Given the description of an element on the screen output the (x, y) to click on. 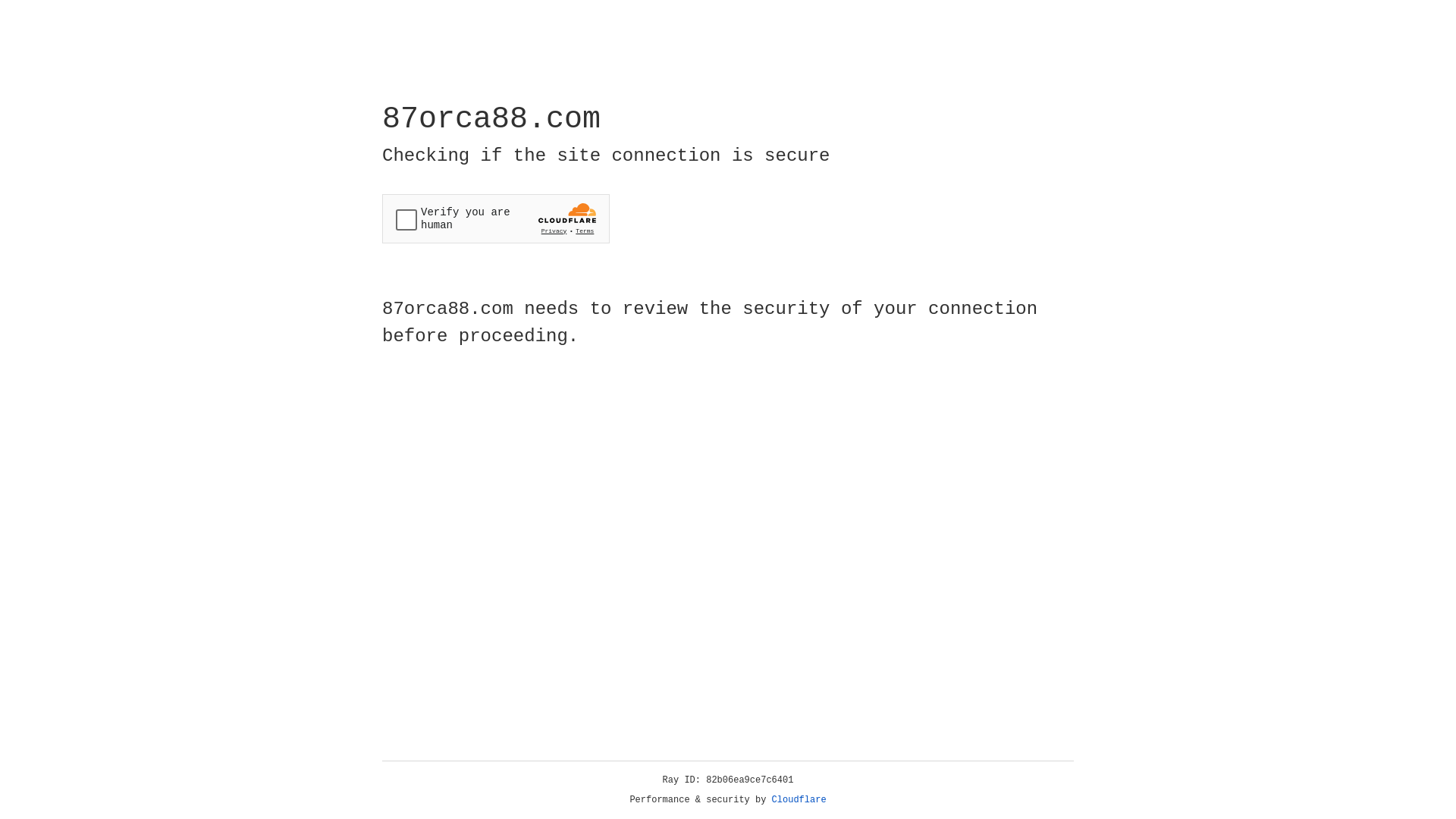
Cloudflare Element type: text (798, 799)
Widget containing a Cloudflare security challenge Element type: hover (495, 218)
